Given the description of an element on the screen output the (x, y) to click on. 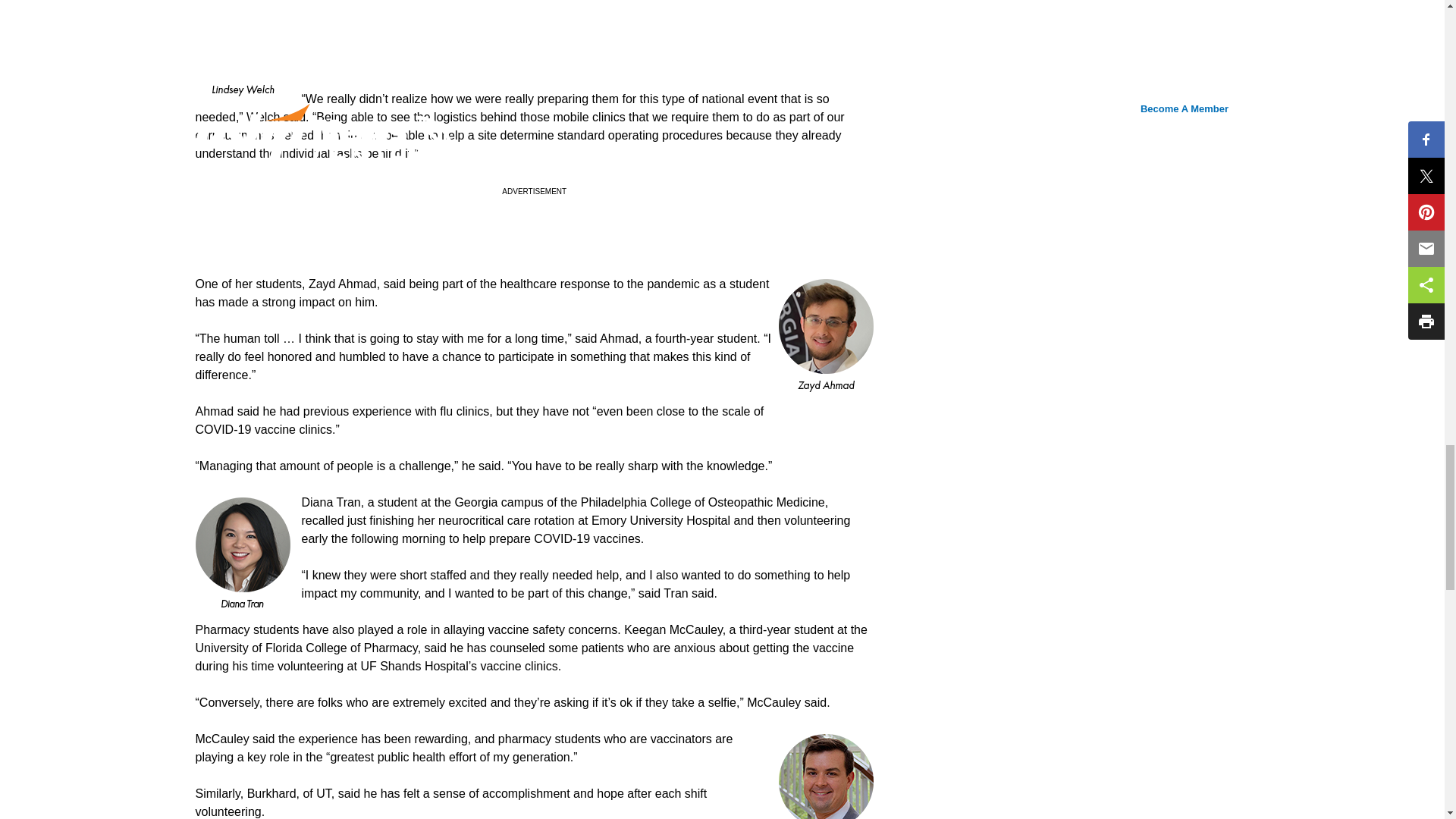
3rd party ad content (534, 241)
